Given the description of an element on the screen output the (x, y) to click on. 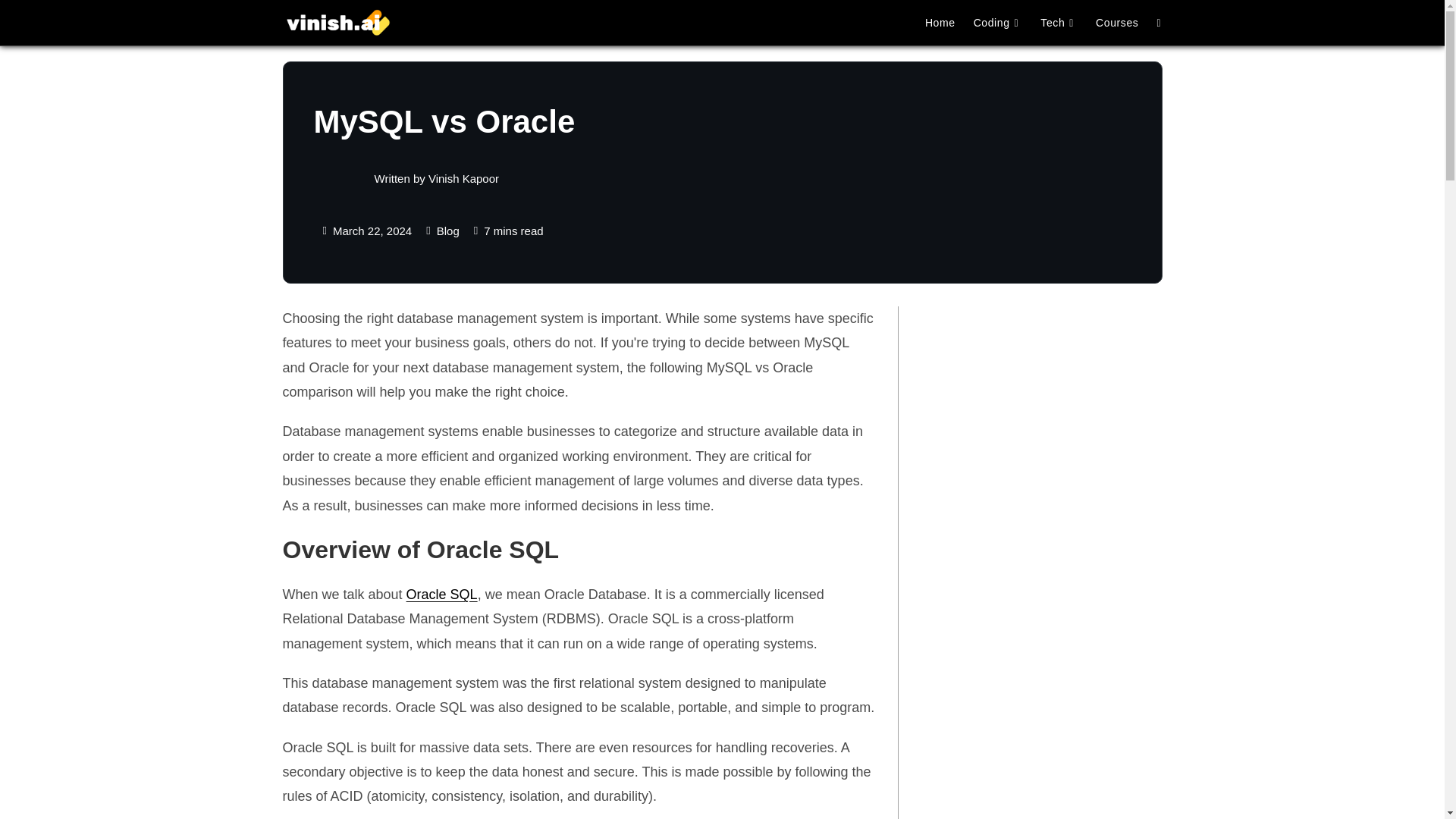
Tech (1058, 22)
Courses (1116, 22)
Coding (997, 22)
Home (939, 22)
